Given the description of an element on the screen output the (x, y) to click on. 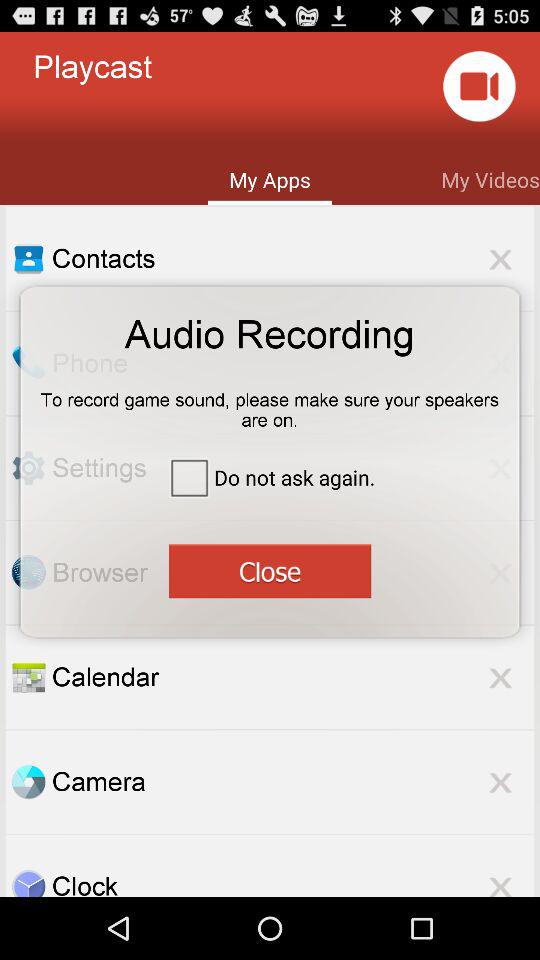
launch the item below the to record game icon (269, 476)
